Given the description of an element on the screen output the (x, y) to click on. 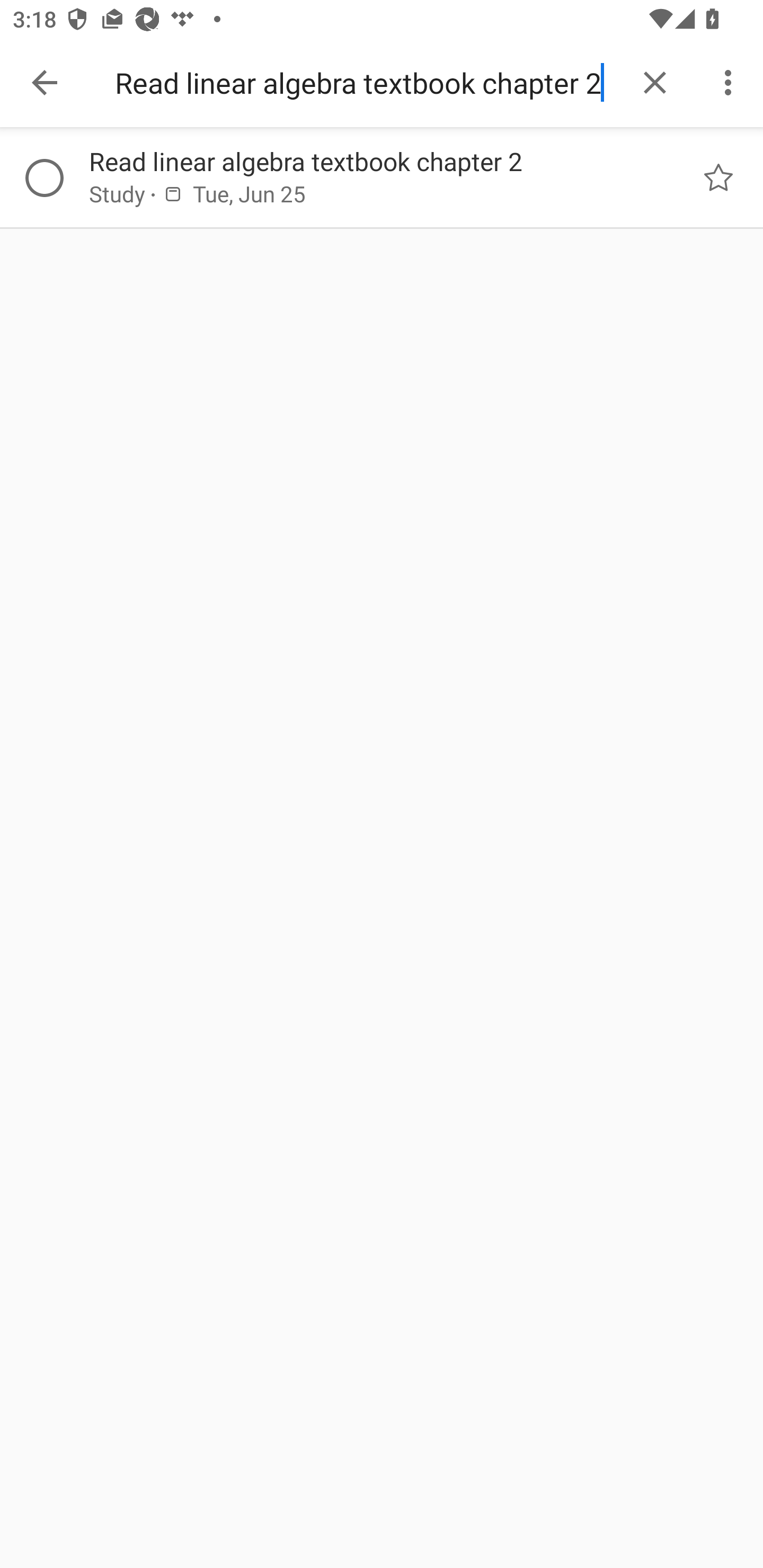
Read linear algebra textbook chapter 2 (371, 161)
